Given the description of an element on the screen output the (x, y) to click on. 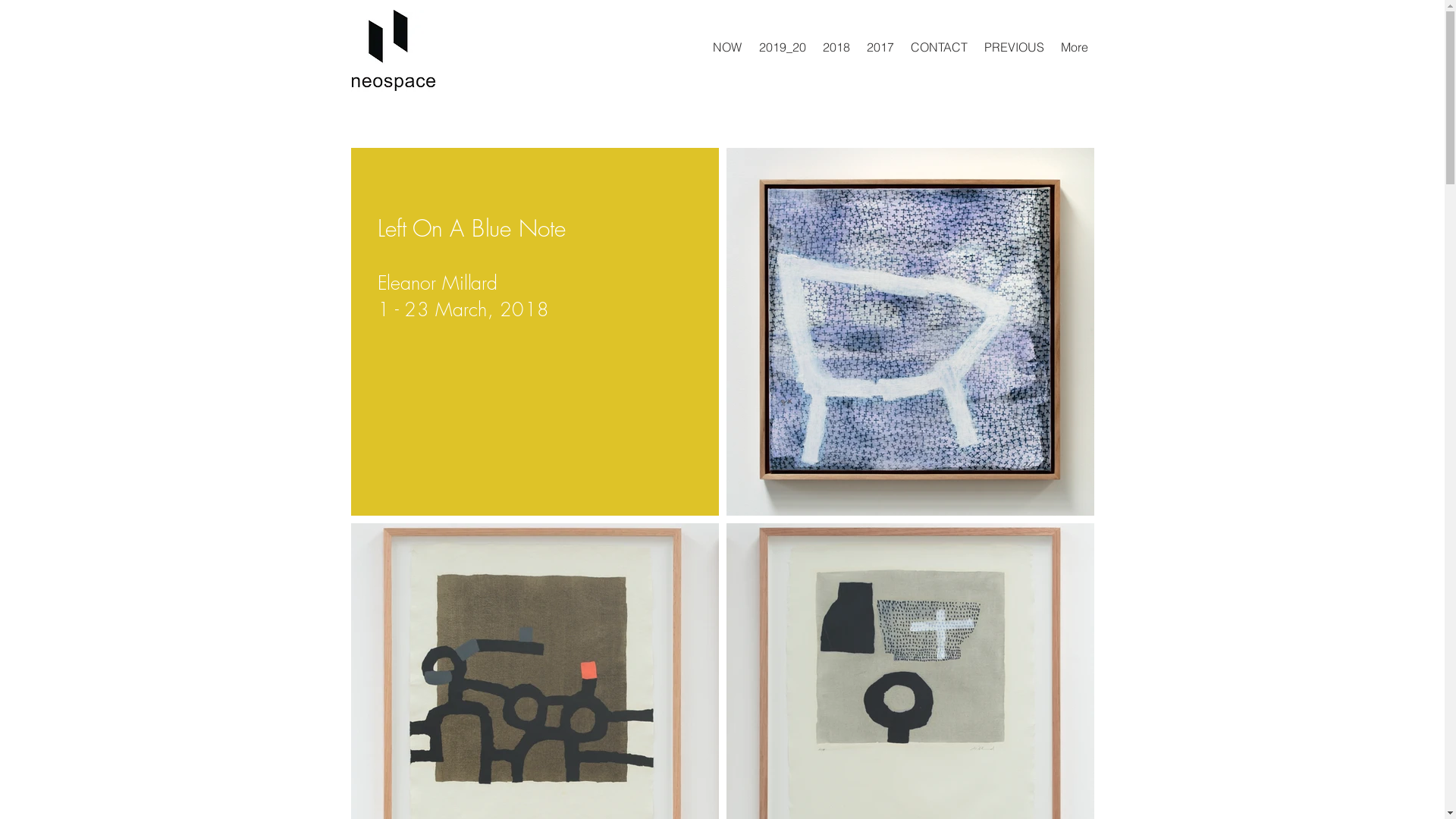
NOW Element type: text (726, 46)
CONTACT Element type: text (938, 46)
PREVIOUS Element type: text (1013, 46)
